Given the description of an element on the screen output the (x, y) to click on. 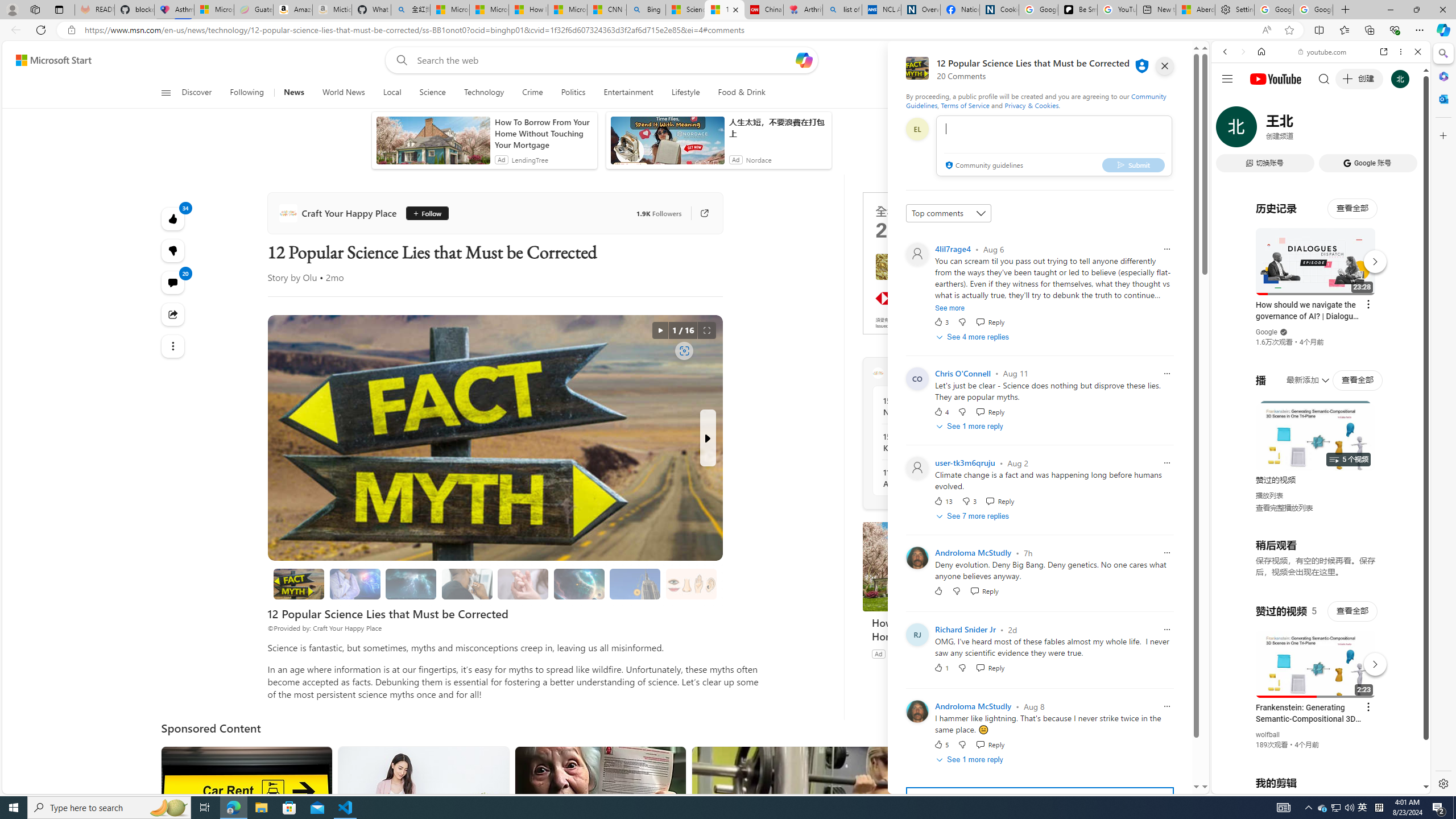
Class: at-item (172, 345)
close (1164, 65)
SEARCH TOOLS (1350, 130)
Lightning Myths (410, 583)
WEB   (1230, 130)
Aberdeen, Hong Kong SAR hourly forecast | Microsoft Weather (1195, 9)
